Given the description of an element on the screen output the (x, y) to click on. 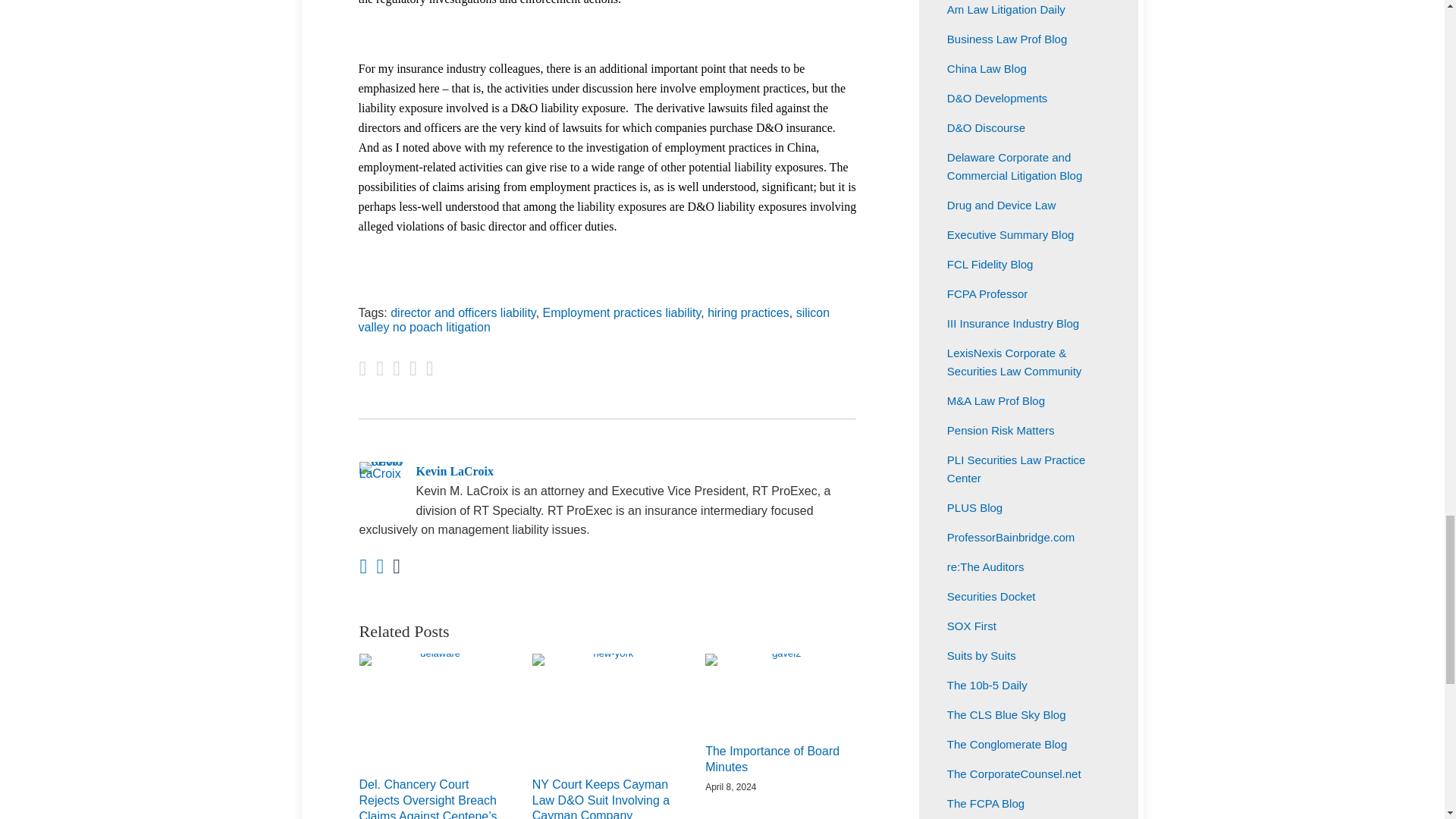
Employment practices liability (622, 312)
silicon valley no poach litigation (593, 319)
Kevin LaCroix (607, 471)
hiring practices (748, 312)
director and officers liability (462, 312)
